Given the description of an element on the screen output the (x, y) to click on. 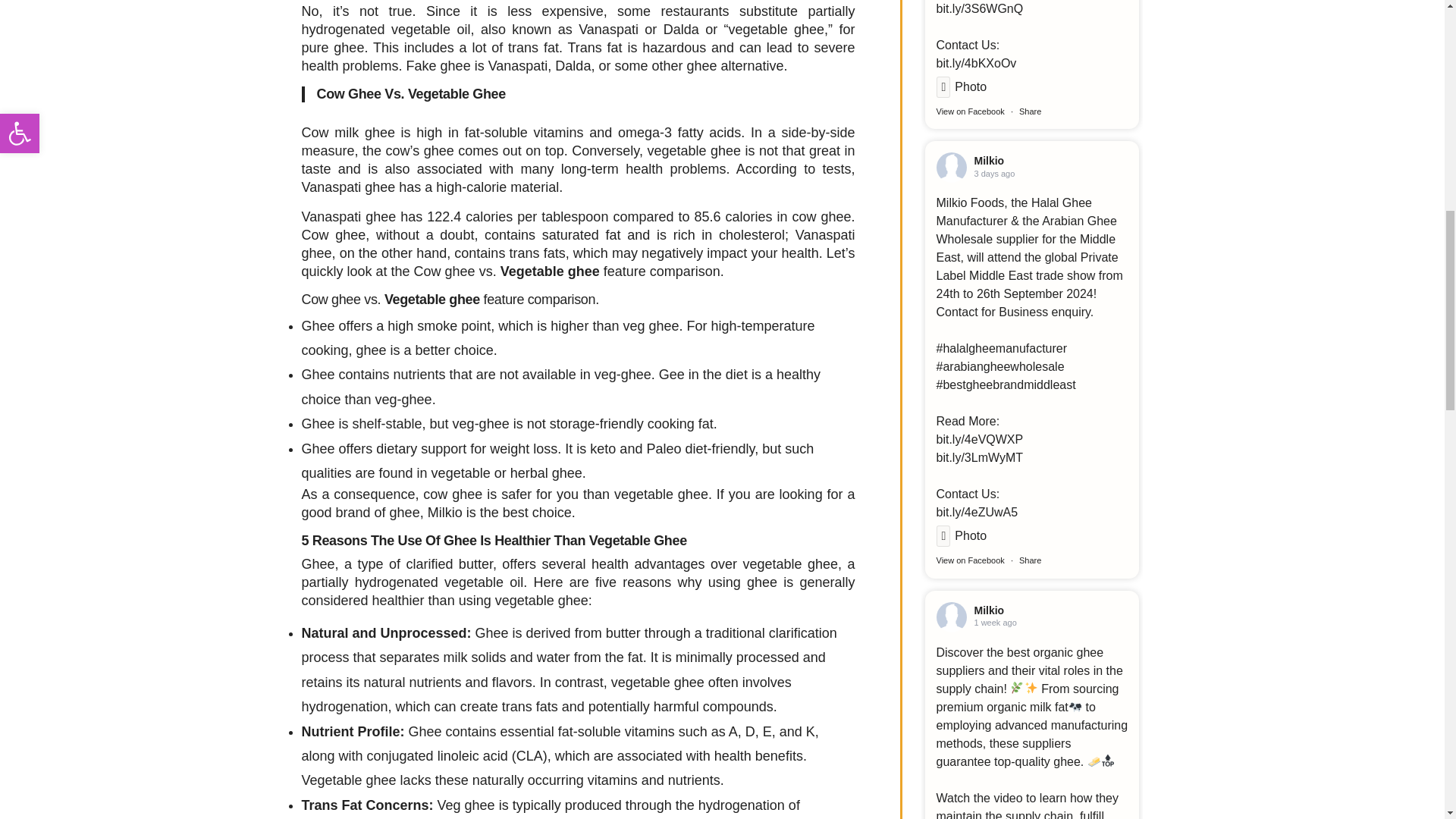
Share (1030, 560)
Share (1030, 111)
View on Facebook (970, 111)
View on Facebook (970, 560)
